Given the description of an element on the screen output the (x, y) to click on. 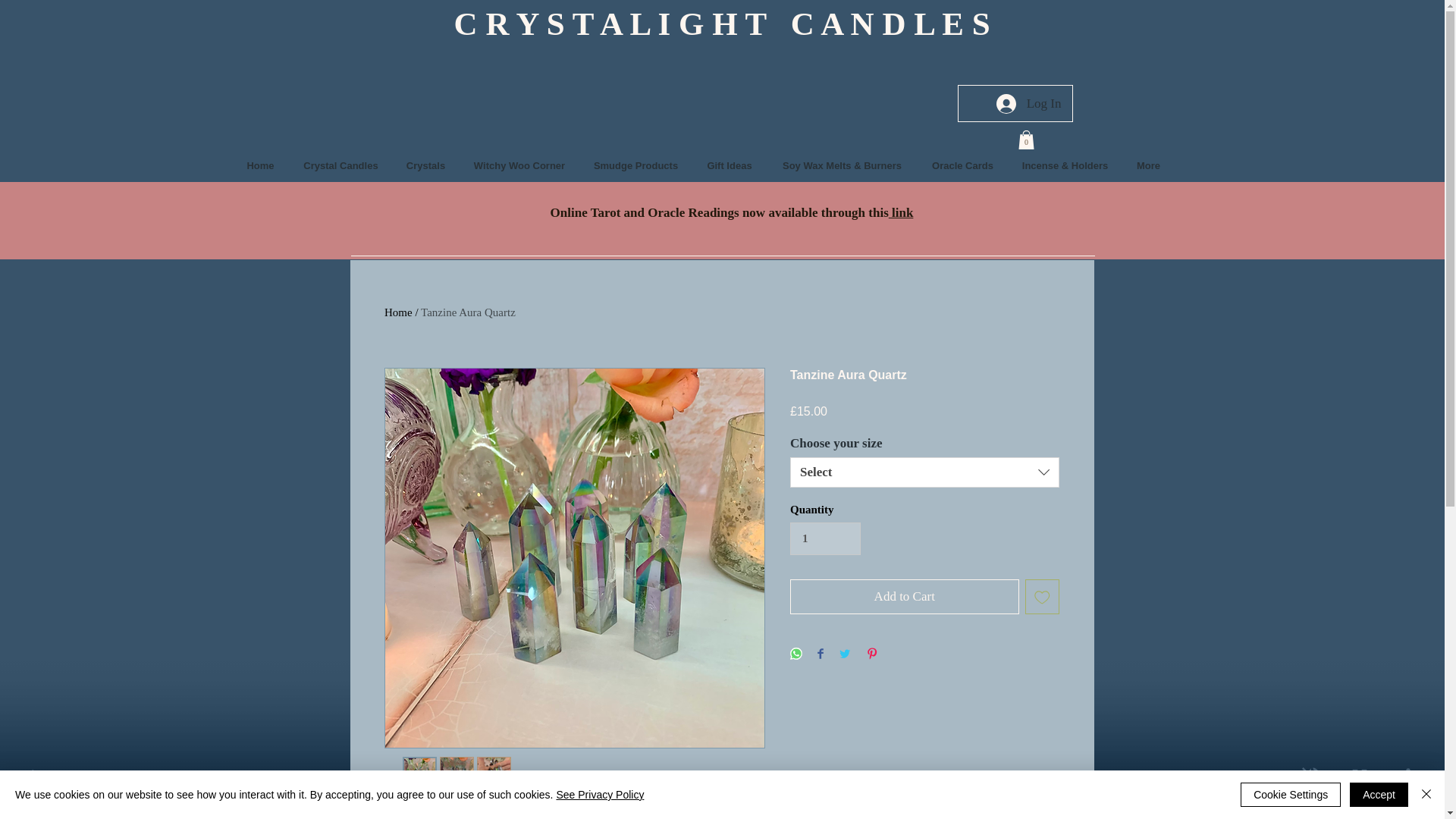
1 (825, 539)
Witchy Woo Corner (519, 165)
Add to Cart (904, 596)
Log In (1028, 103)
Smudge Products (635, 165)
Crystals (426, 165)
C R Y S T A L I G H T    (622, 23)
Crystal Candles (341, 165)
link (901, 212)
Select (924, 472)
See Privacy Policy (599, 794)
Home (398, 312)
Gift Ideas (729, 165)
Tanzine Aura Quartz (467, 312)
Cookie Settings (1290, 794)
